Given the description of an element on the screen output the (x, y) to click on. 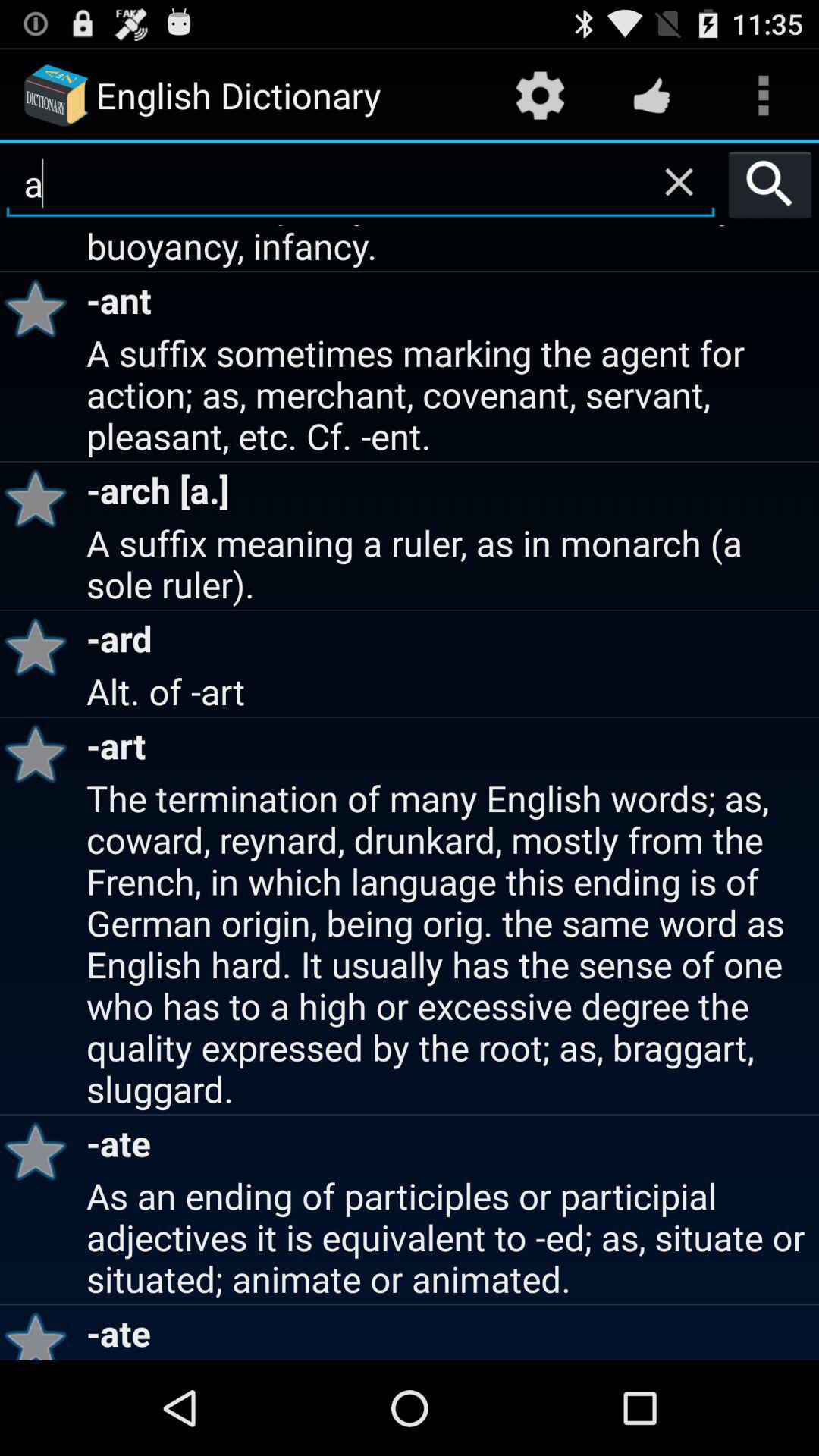
choose the app next to the a suffix sometimes app (41, 498)
